Given the description of an element on the screen output the (x, y) to click on. 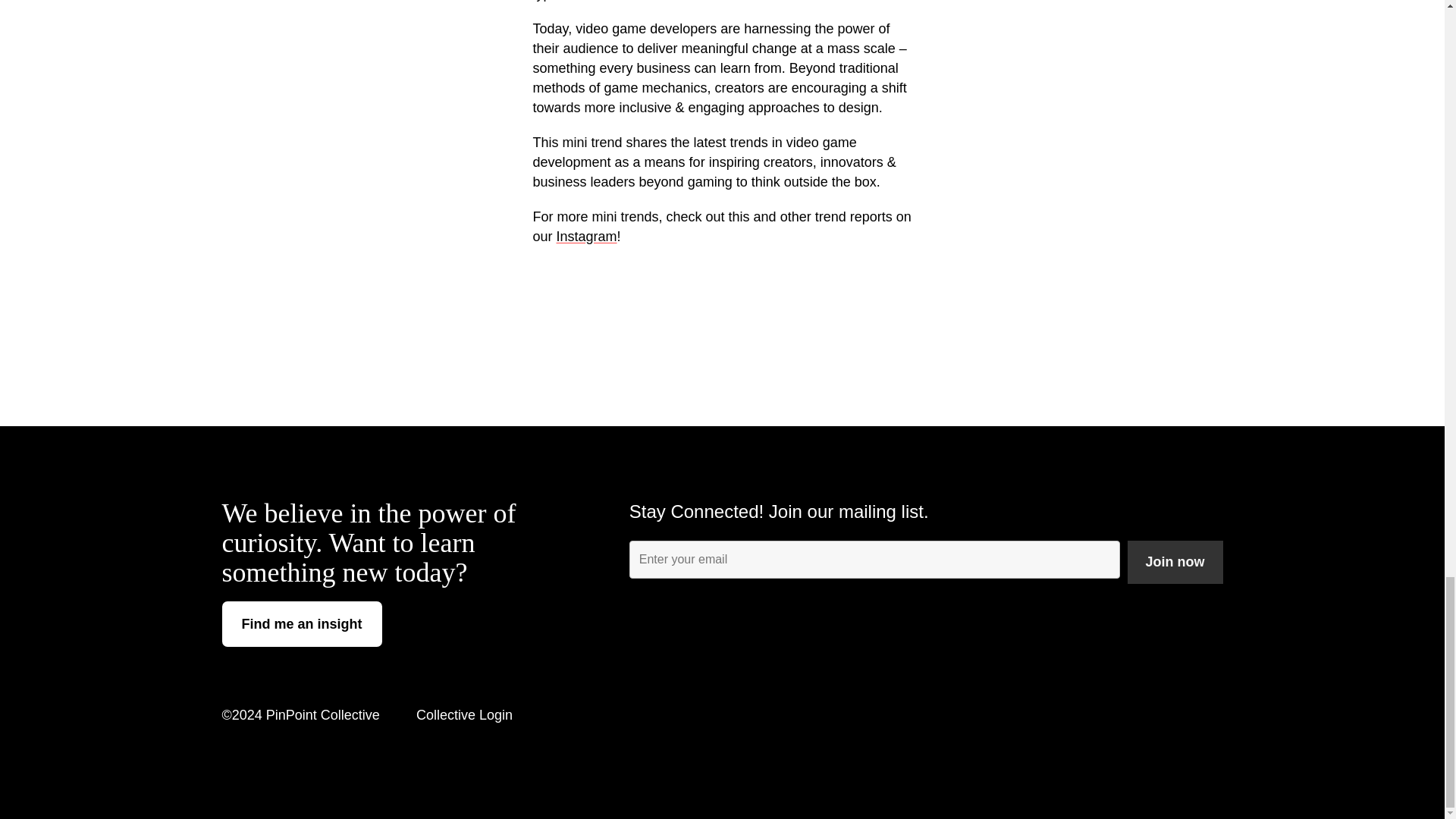
Collective Login (464, 714)
LinkedIn (1108, 714)
Share on Facebook (749, 307)
Share on Facebook (694, 307)
Join now (1174, 561)
Share via Email (749, 307)
Share on LinkedIn (694, 307)
Share on Facebook (721, 307)
Join now (1174, 561)
Share on Facebook (721, 307)
